Given the description of an element on the screen output the (x, y) to click on. 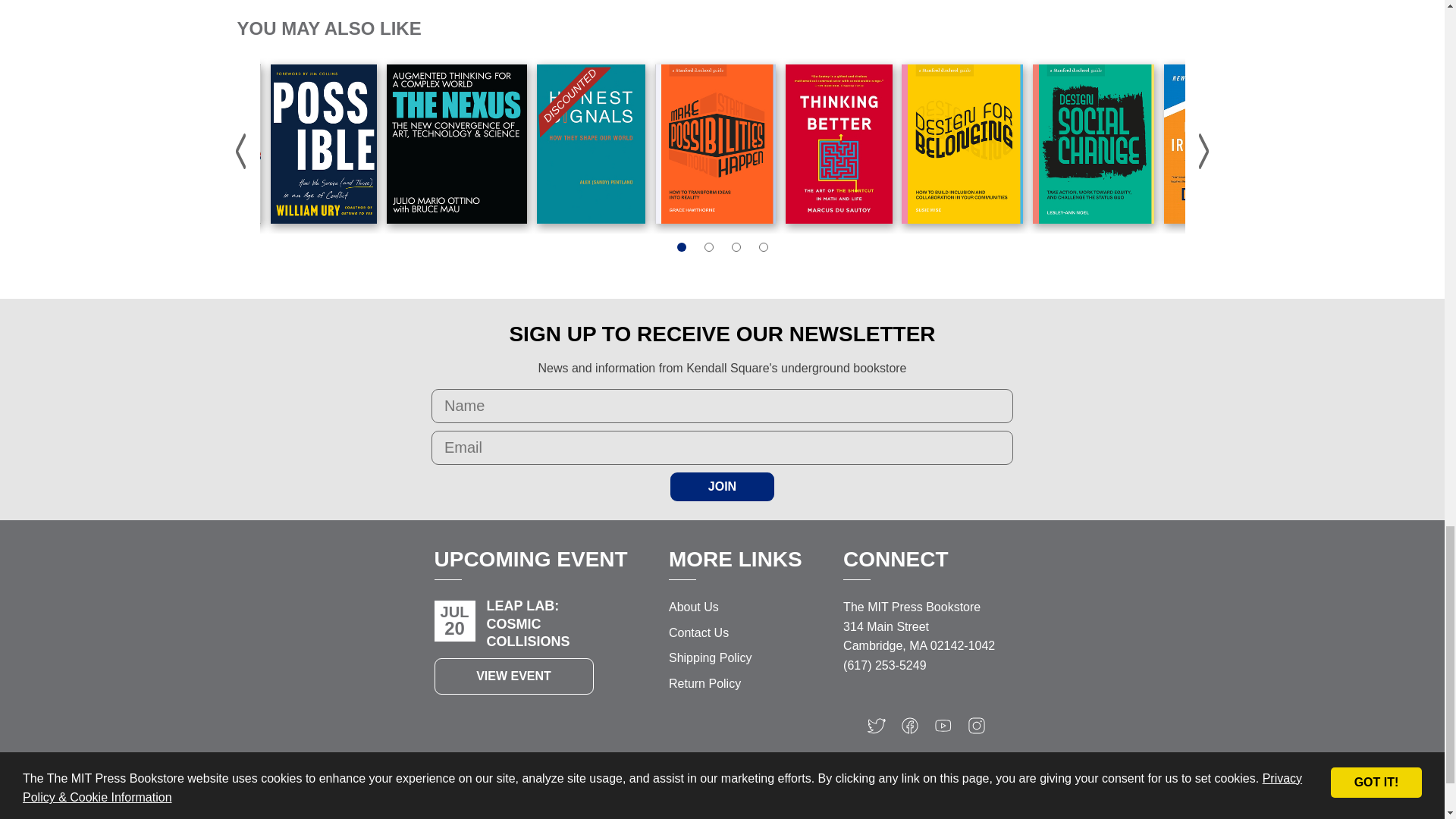
Join (721, 486)
